Given the description of an element on the screen output the (x, y) to click on. 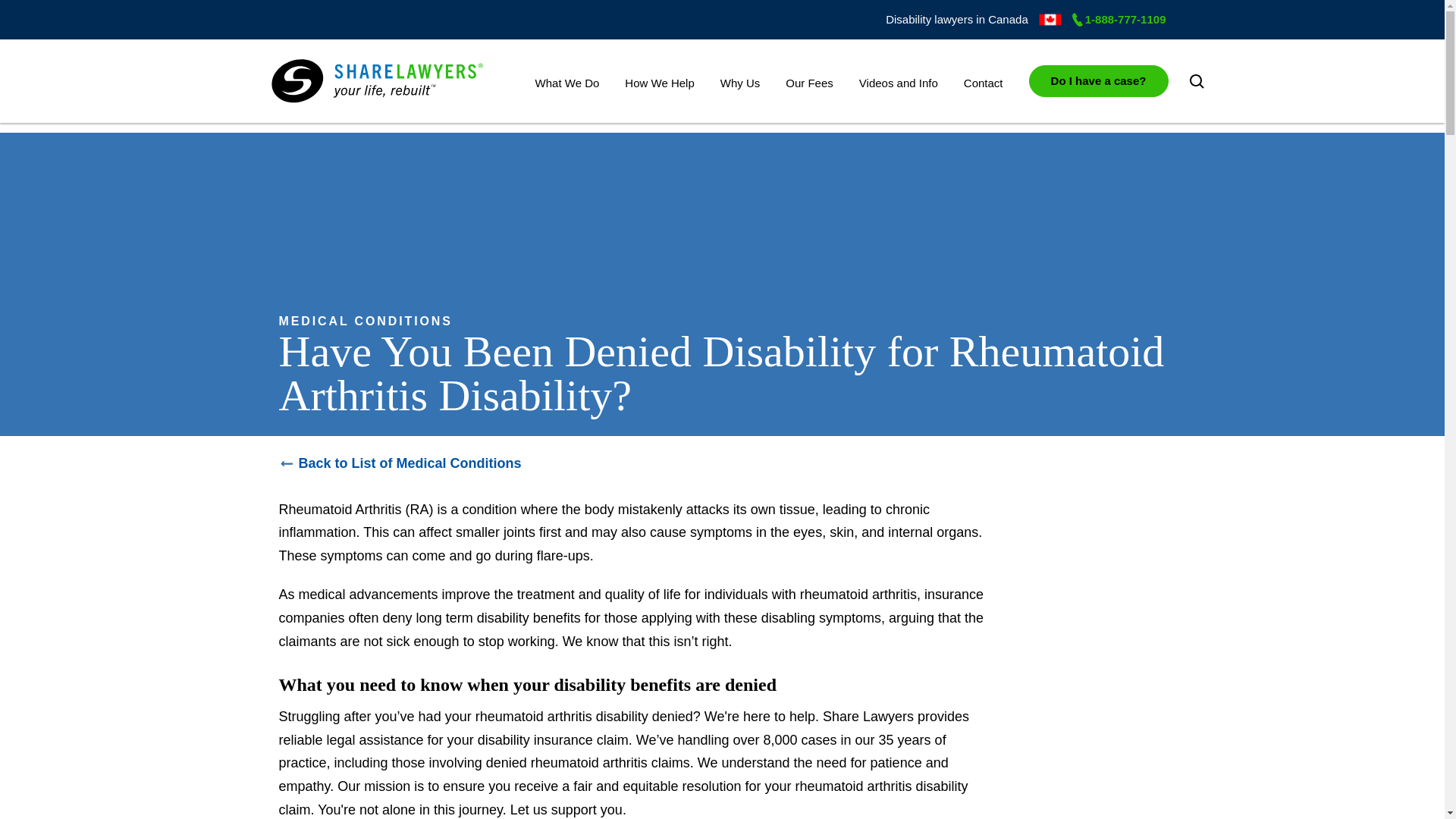
1-888-777-1109 (1118, 19)
Share Lawyers (376, 81)
